Given the description of an element on the screen output the (x, y) to click on. 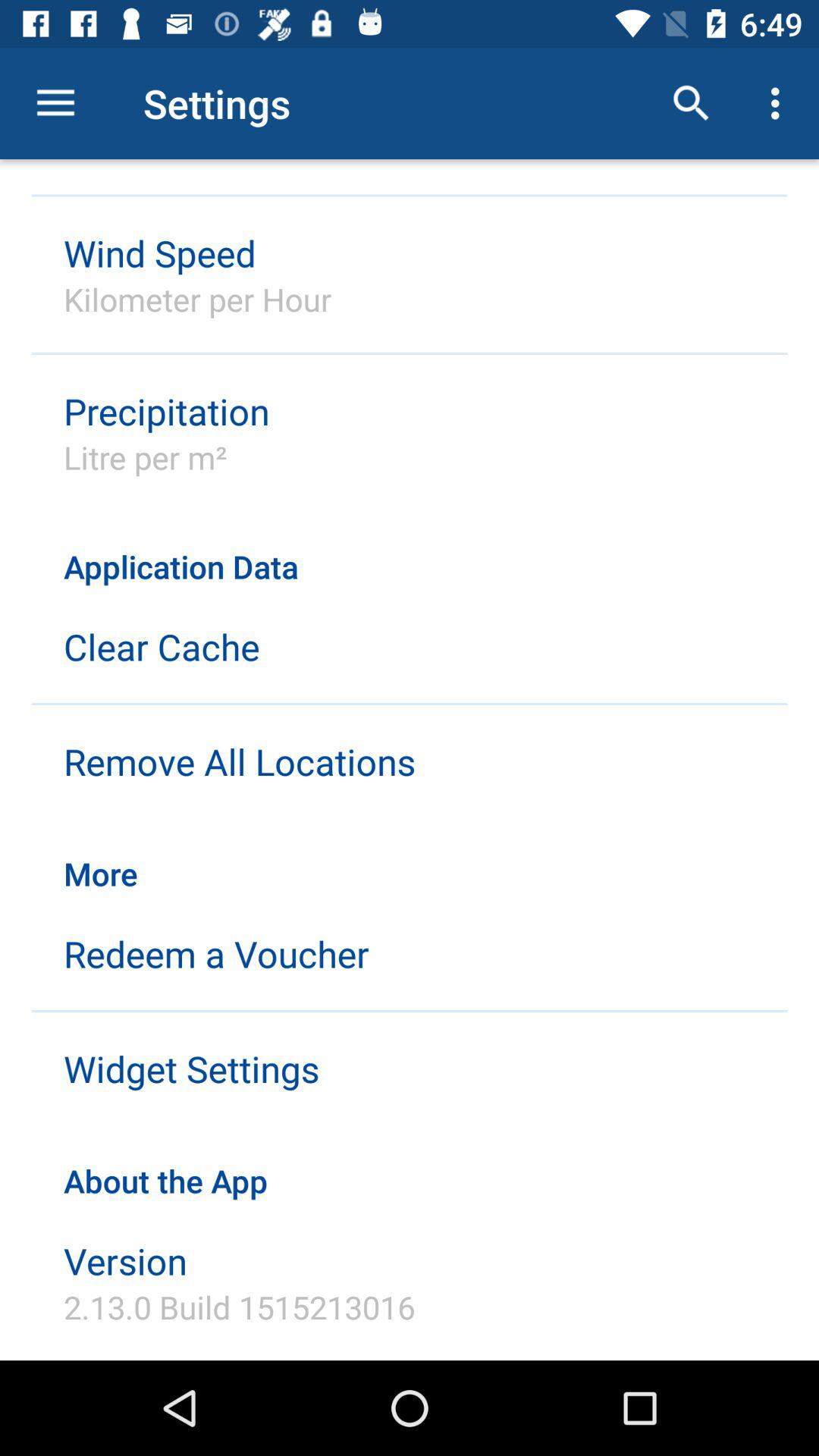
swipe to the kilometer per hour item (197, 298)
